Given the description of an element on the screen output the (x, y) to click on. 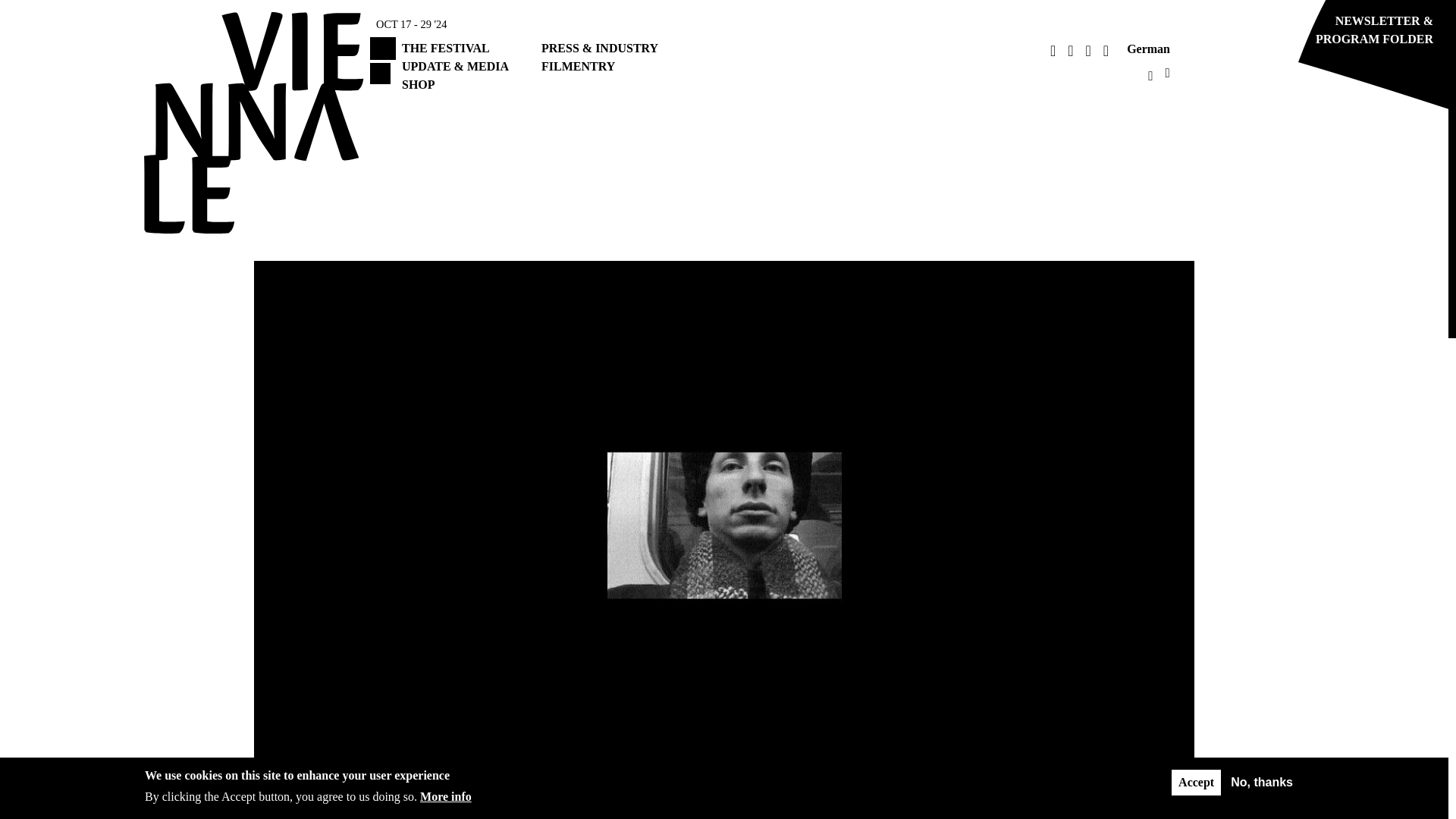
THE FESTIVAL (445, 47)
FILMENTRY (577, 65)
Search (890, 86)
German (1148, 48)
SHOP (418, 83)
